Given the description of an element on the screen output the (x, y) to click on. 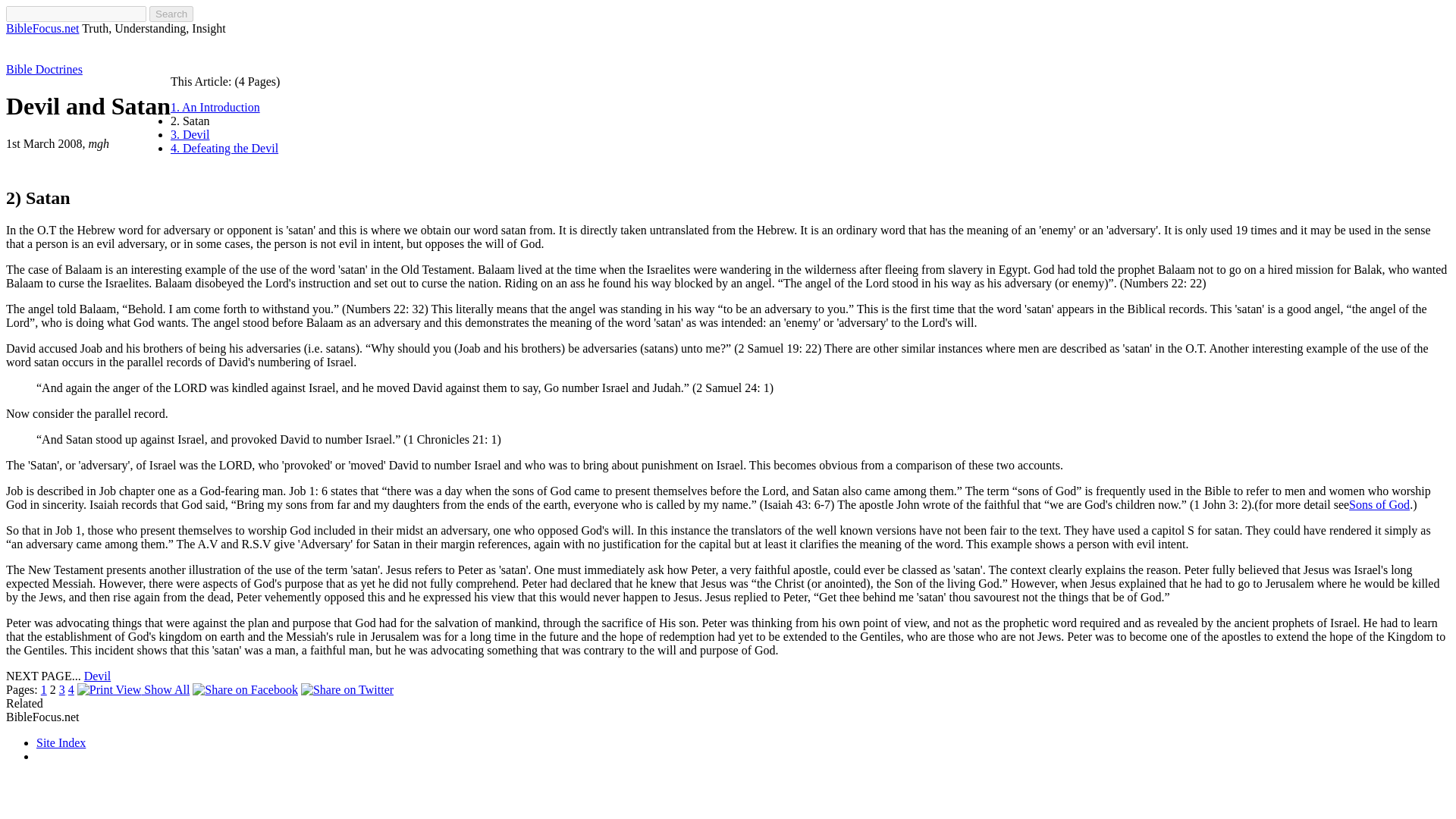
Site Index (60, 742)
Search (171, 13)
Bible Doctrines (43, 69)
Share on Facebook (245, 689)
Show All (133, 689)
Print View: All pages (109, 689)
Search (171, 13)
4. Defeating the Devil (224, 147)
BibleFocus.net (41, 28)
3. Devil (189, 133)
1. An Introduction (215, 106)
Sons of God (1379, 504)
Share on Twitter (347, 689)
Devil (98, 675)
